Given the description of an element on the screen output the (x, y) to click on. 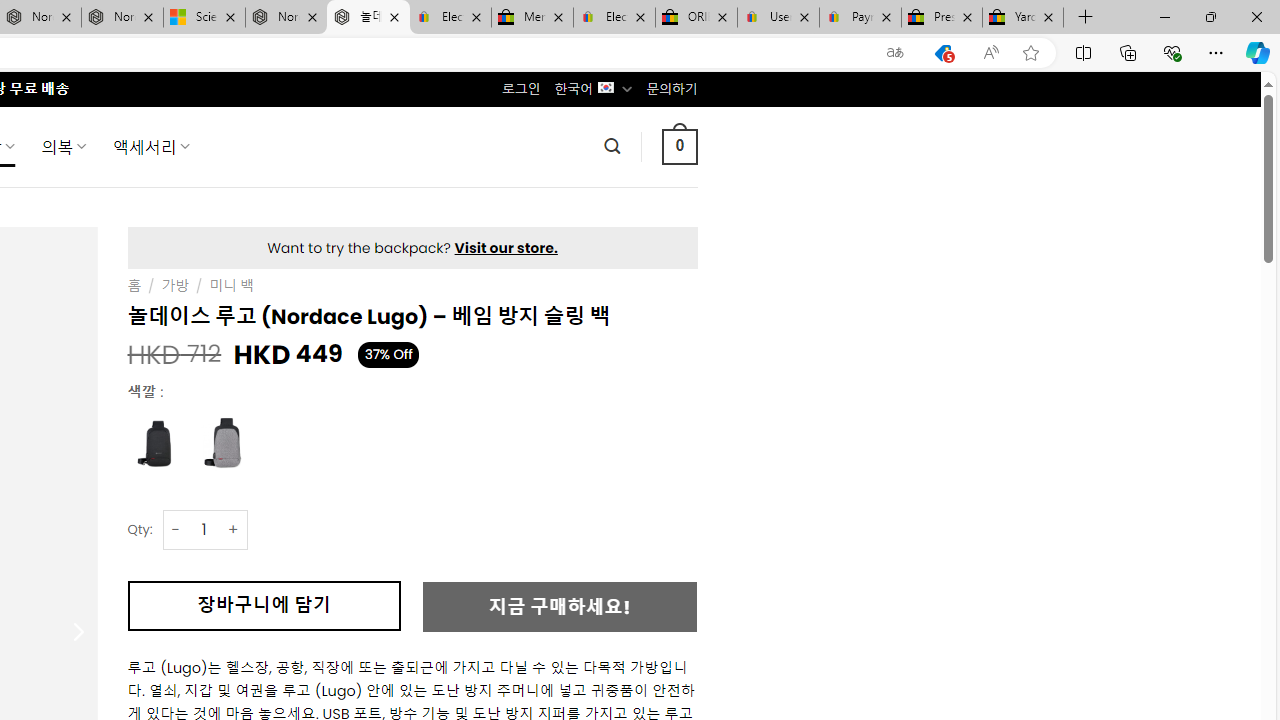
Visit our store. (506, 247)
+ (234, 529)
